Given the description of an element on the screen output the (x, y) to click on. 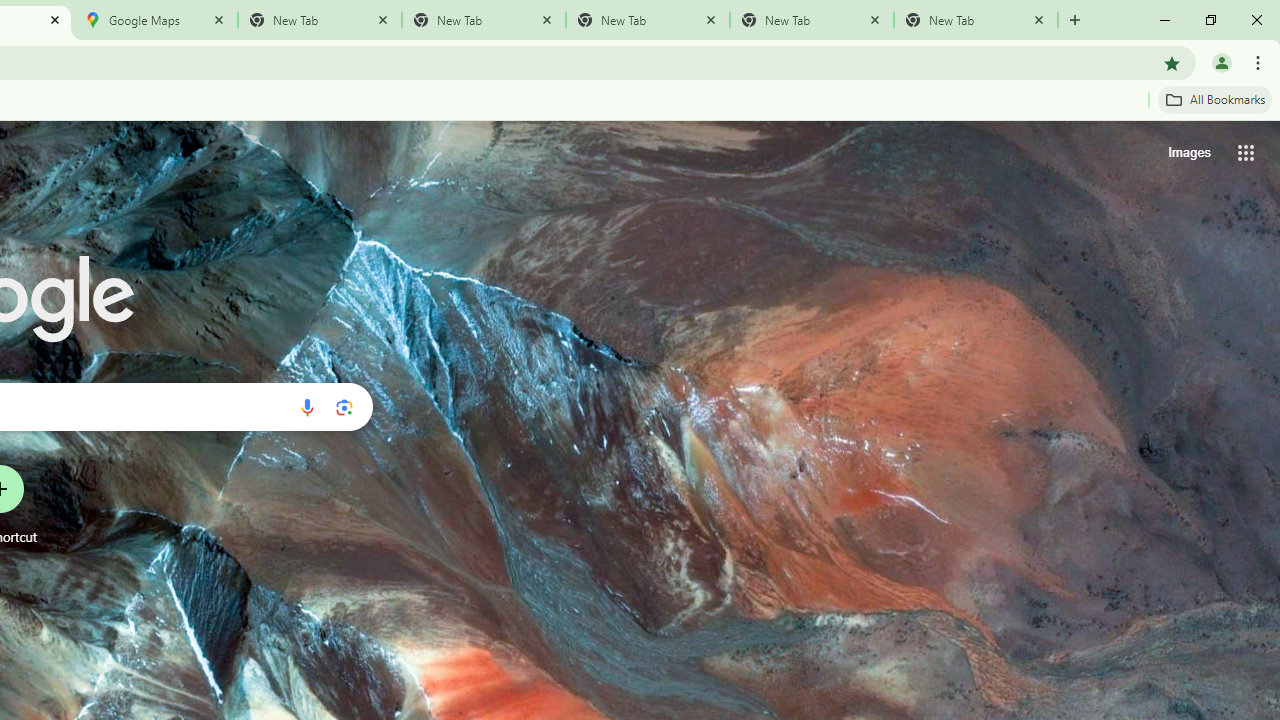
New Tab (975, 20)
